Given the description of an element on the screen output the (x, y) to click on. 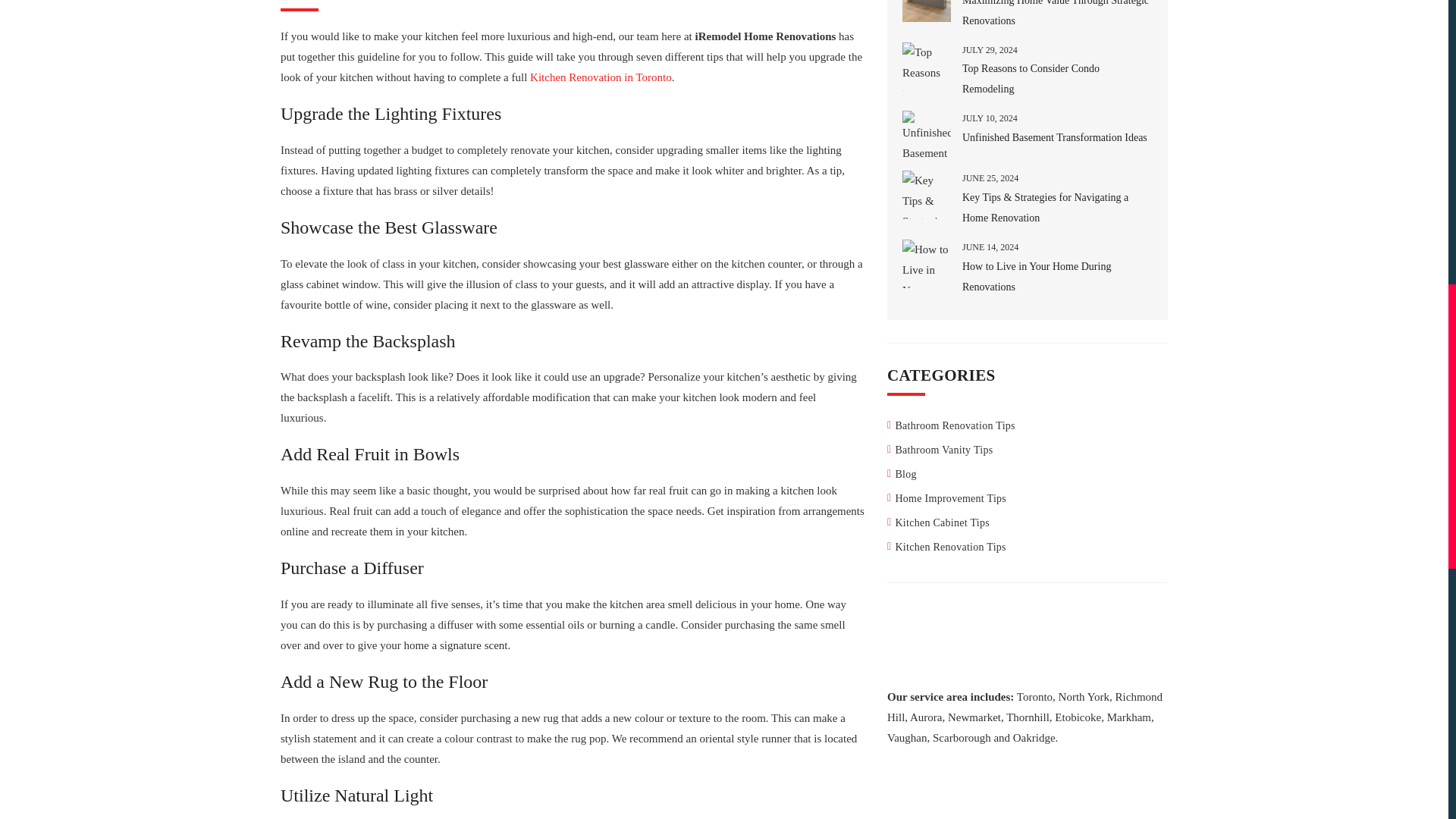
Top Reasons to Consider Condo Remodeling (926, 66)
Top Reasons to Consider Condo Remodeling (1030, 79)
Unfinished Basement Transformation Ideas (1054, 137)
Maximizing Home Value Through Strategic Renovations (926, 11)
Maximizing Home Value Through Strategic Renovations (1055, 13)
Unfinished Basement Transformation Ideas (926, 134)
